Given the description of an element on the screen output the (x, y) to click on. 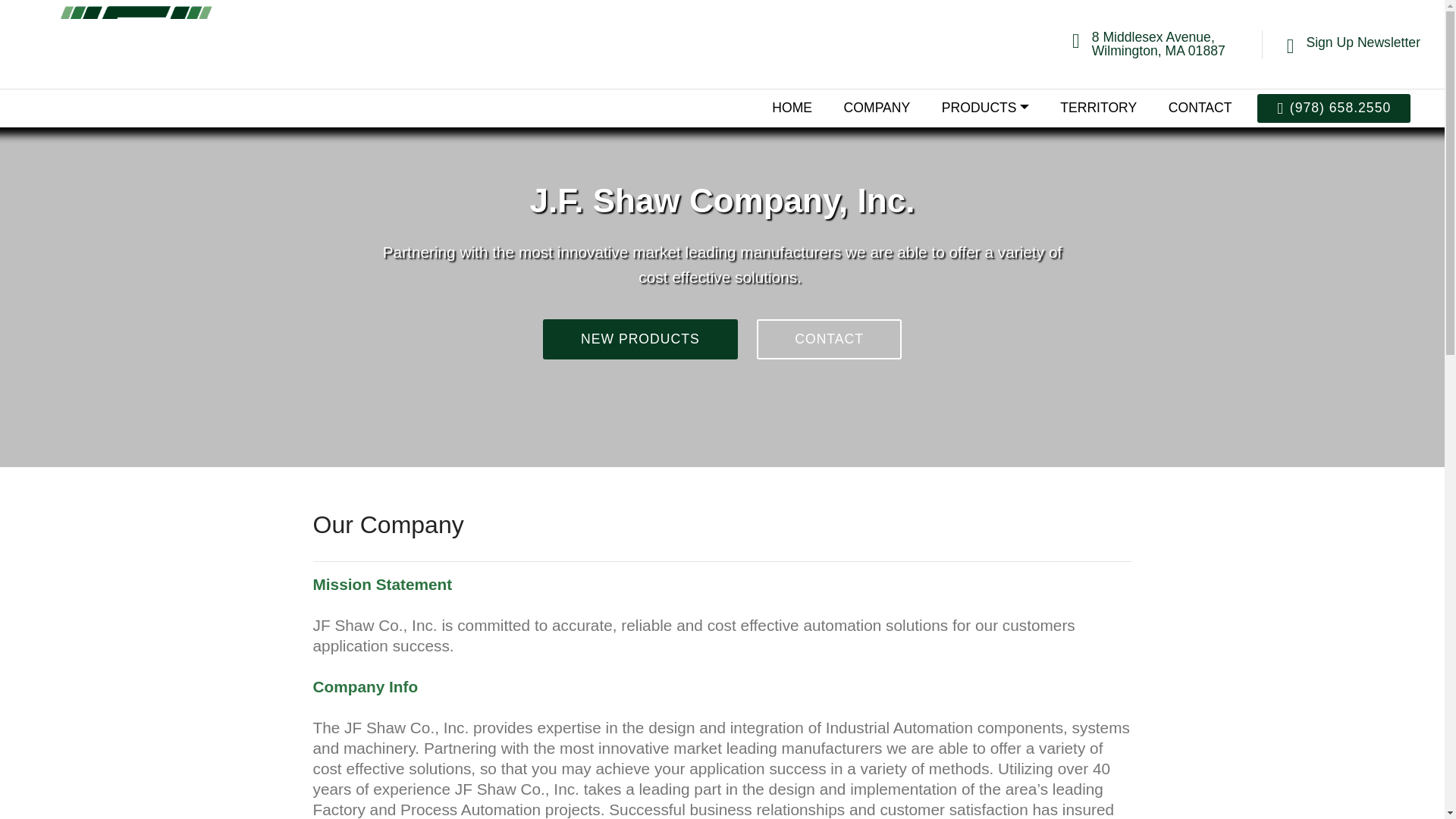
PRODUCTS (985, 108)
Wilmington, MA 01887 (1158, 50)
NEW PRODUCTS (640, 339)
Sign Up Newsletter (1363, 42)
COMPANY (877, 108)
8 Middlesex Avenue, (1153, 37)
HOME (791, 108)
TERRITORY (1098, 108)
CONTACT (1200, 108)
